Given the description of an element on the screen output the (x, y) to click on. 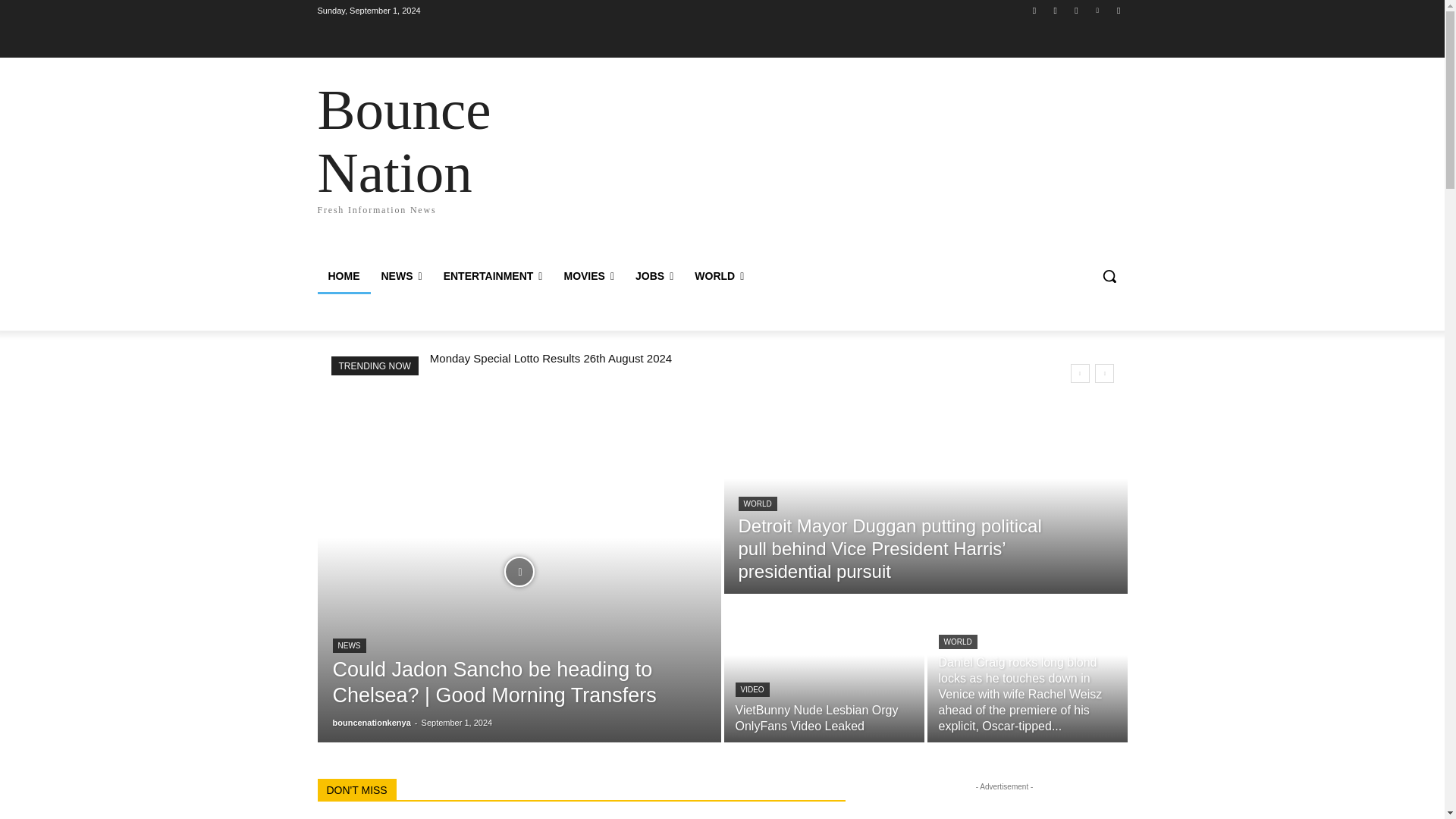
Facebook (1034, 9)
Instagram (1055, 9)
NEWS (400, 275)
HOME (343, 275)
ENTERTAINMENT (492, 275)
Youtube (1117, 9)
Vimeo (1097, 9)
Twitter (425, 146)
Bounce Nation Logo (1075, 9)
